Given the description of an element on the screen output the (x, y) to click on. 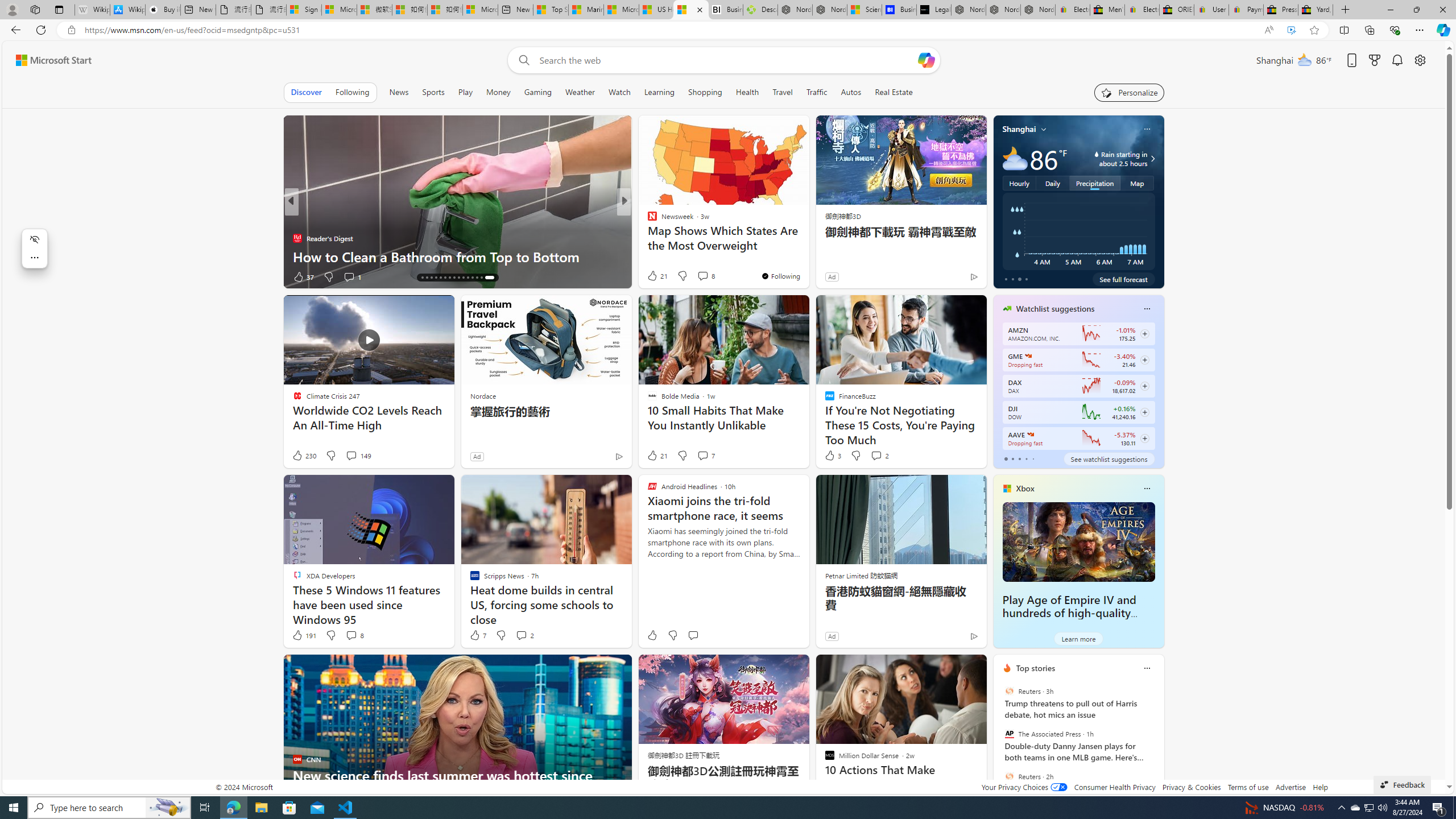
Vox.com (647, 219)
tab-3 (1025, 458)
Money (498, 92)
Class: icon-img (1146, 668)
Sports (432, 92)
You're following Newsweek (780, 275)
Top Stories - MSN (550, 9)
AutomationID: tab-18 (438, 277)
Class: weather-arrow-glyph (1152, 158)
Health (746, 92)
Learn more (1078, 638)
